Given the description of an element on the screen output the (x, y) to click on. 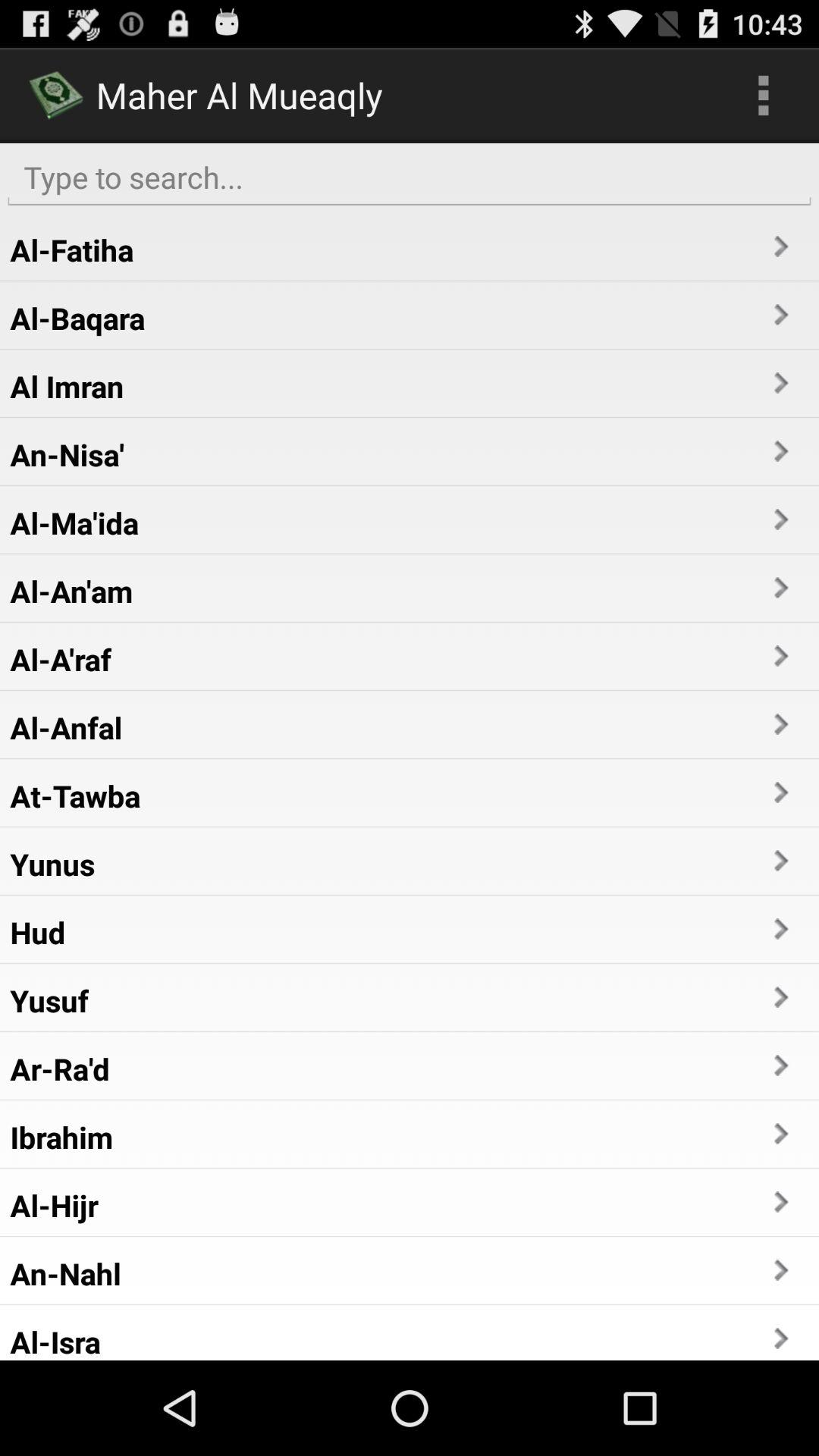
click item to the right of al-hijr icon (779, 1201)
